Given the description of an element on the screen output the (x, y) to click on. 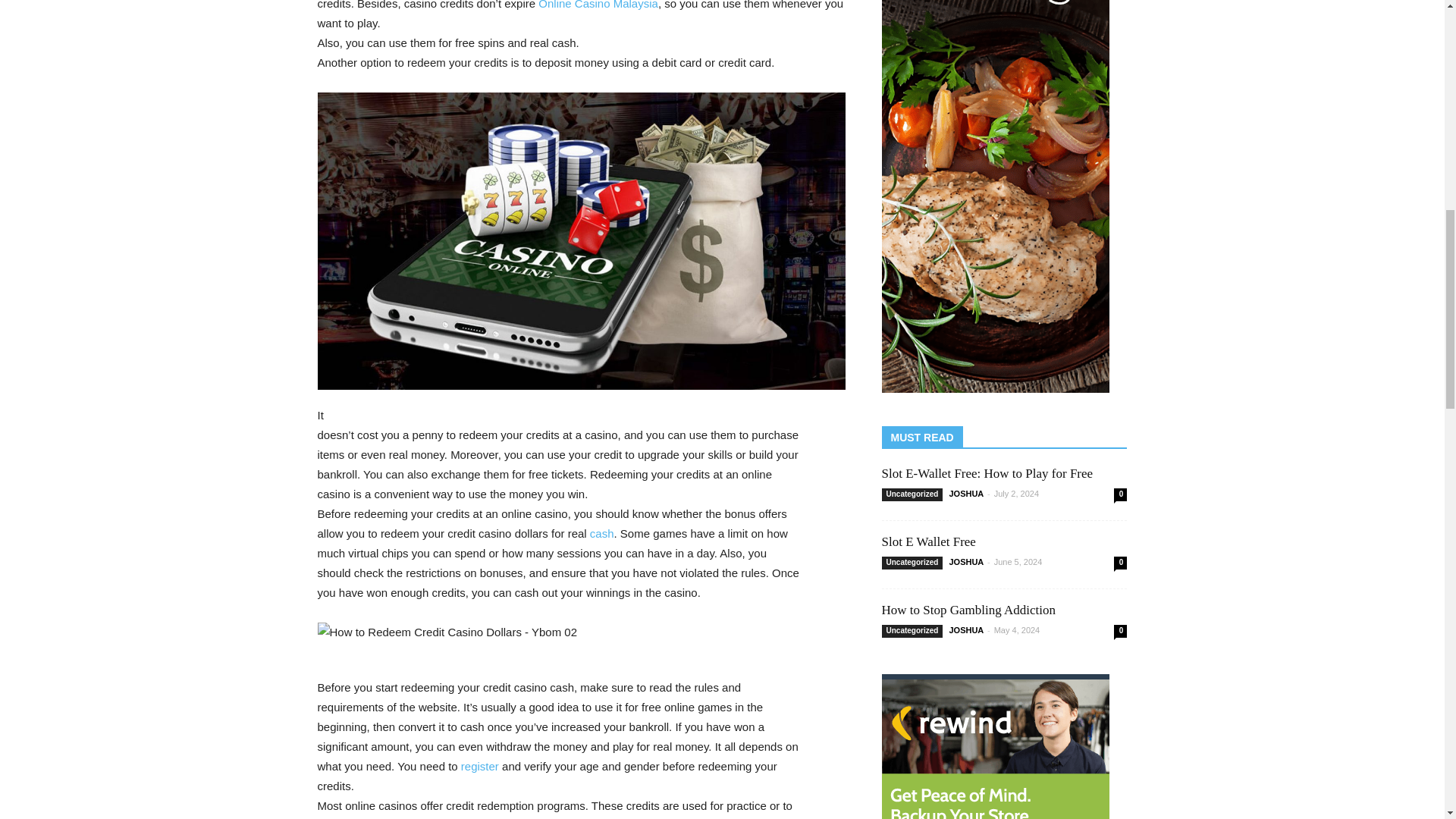
cash (601, 532)
Online Casino Malaysia (598, 4)
Slot E-Wallet Free: How to Play for Free (986, 473)
register (480, 766)
